Given the description of an element on the screen output the (x, y) to click on. 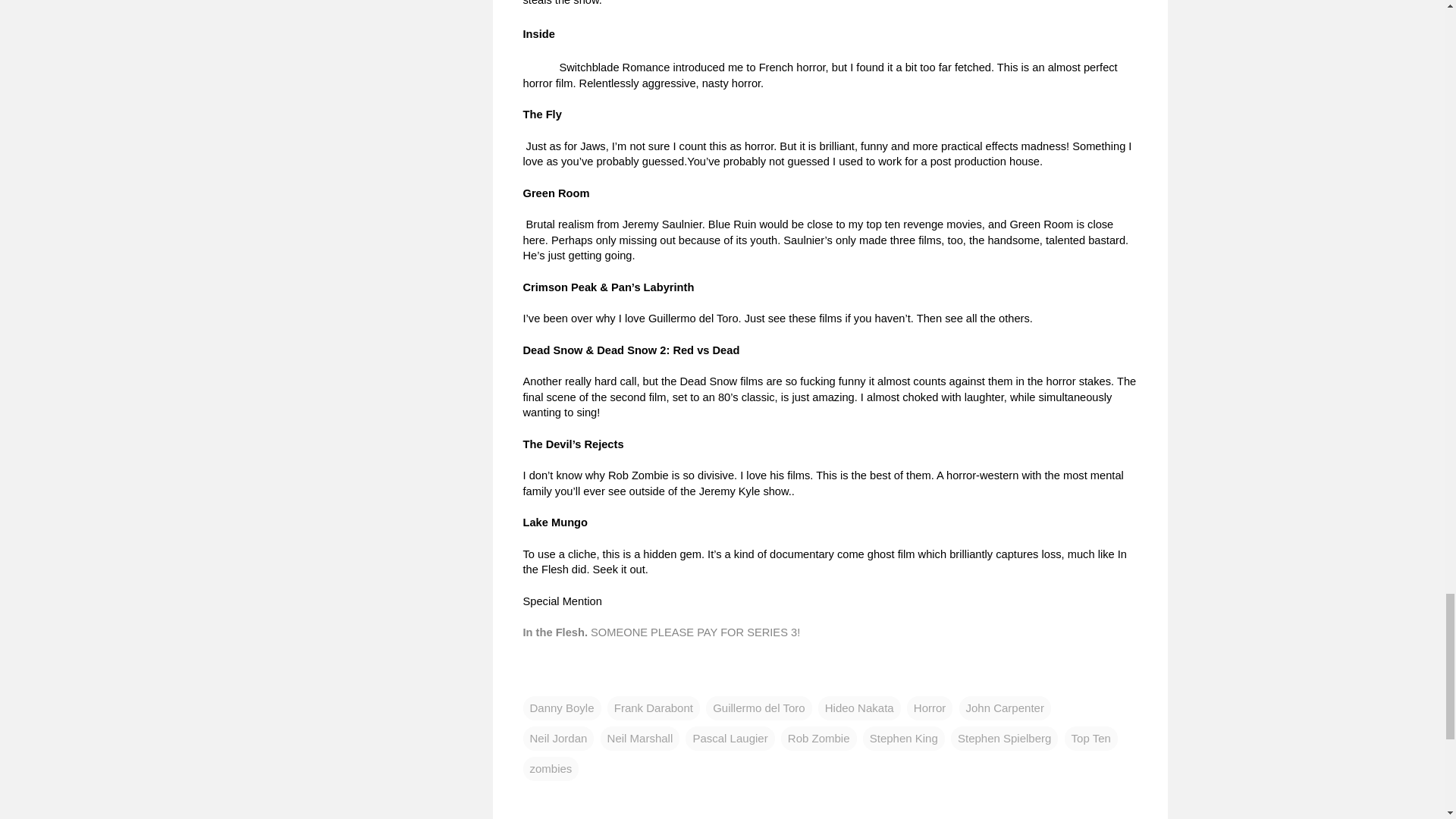
Neil Jordan (558, 738)
Danny Boyle (561, 708)
zombies (550, 768)
Top Ten (1091, 738)
Rob Zombie (818, 738)
Stephen King (903, 738)
Guillermo del Toro (758, 708)
Neil Marshall (639, 738)
Pascal Laugier (729, 738)
Hideo Nakata (859, 708)
